Given the description of an element on the screen output the (x, y) to click on. 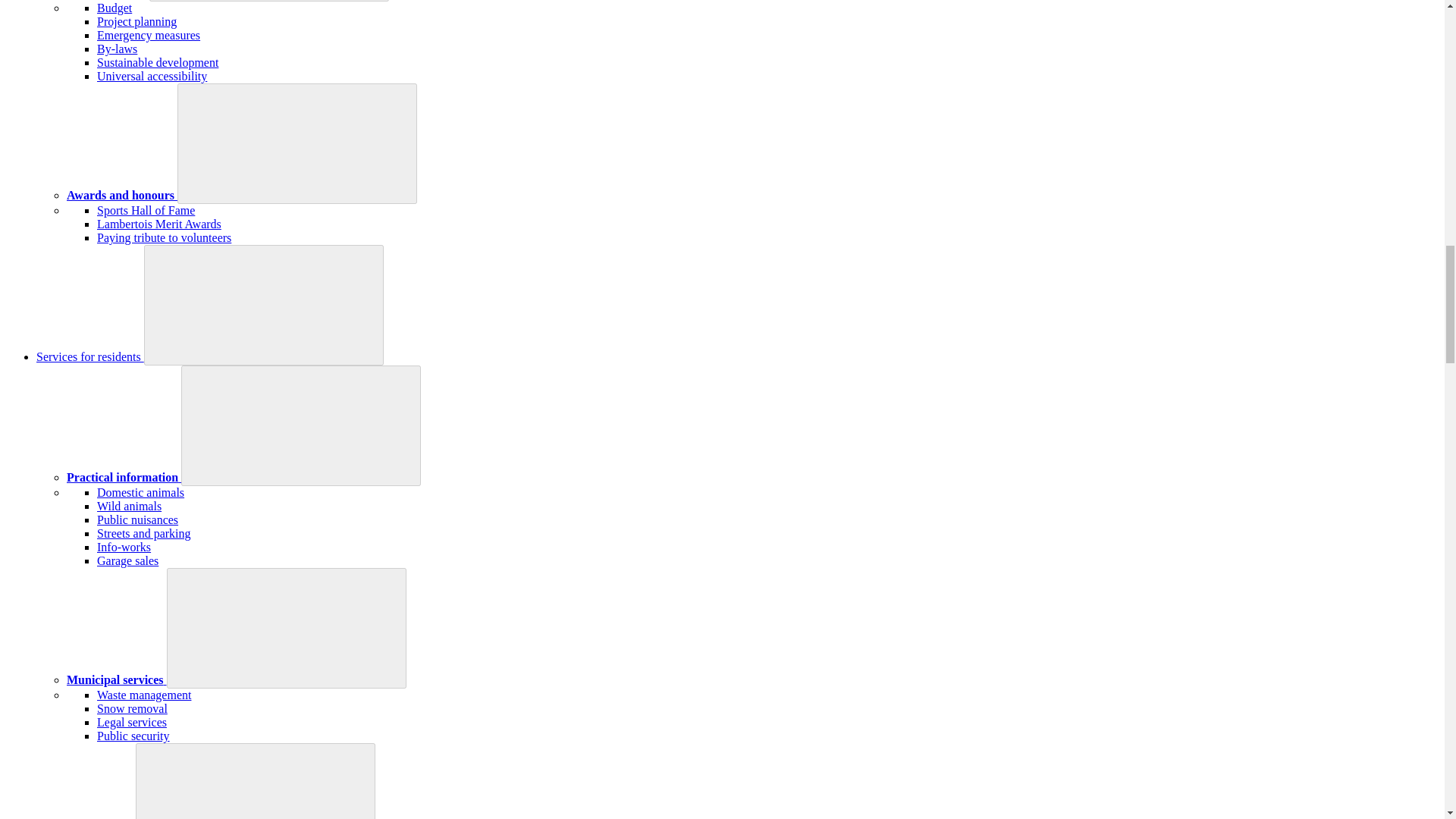
Project planning (136, 21)
Emergency measures (148, 34)
Sustainable development (157, 62)
By-laws (116, 48)
Awards and honours (121, 195)
Universal accessibility (151, 75)
Budget (114, 7)
